Given the description of an element on the screen output the (x, y) to click on. 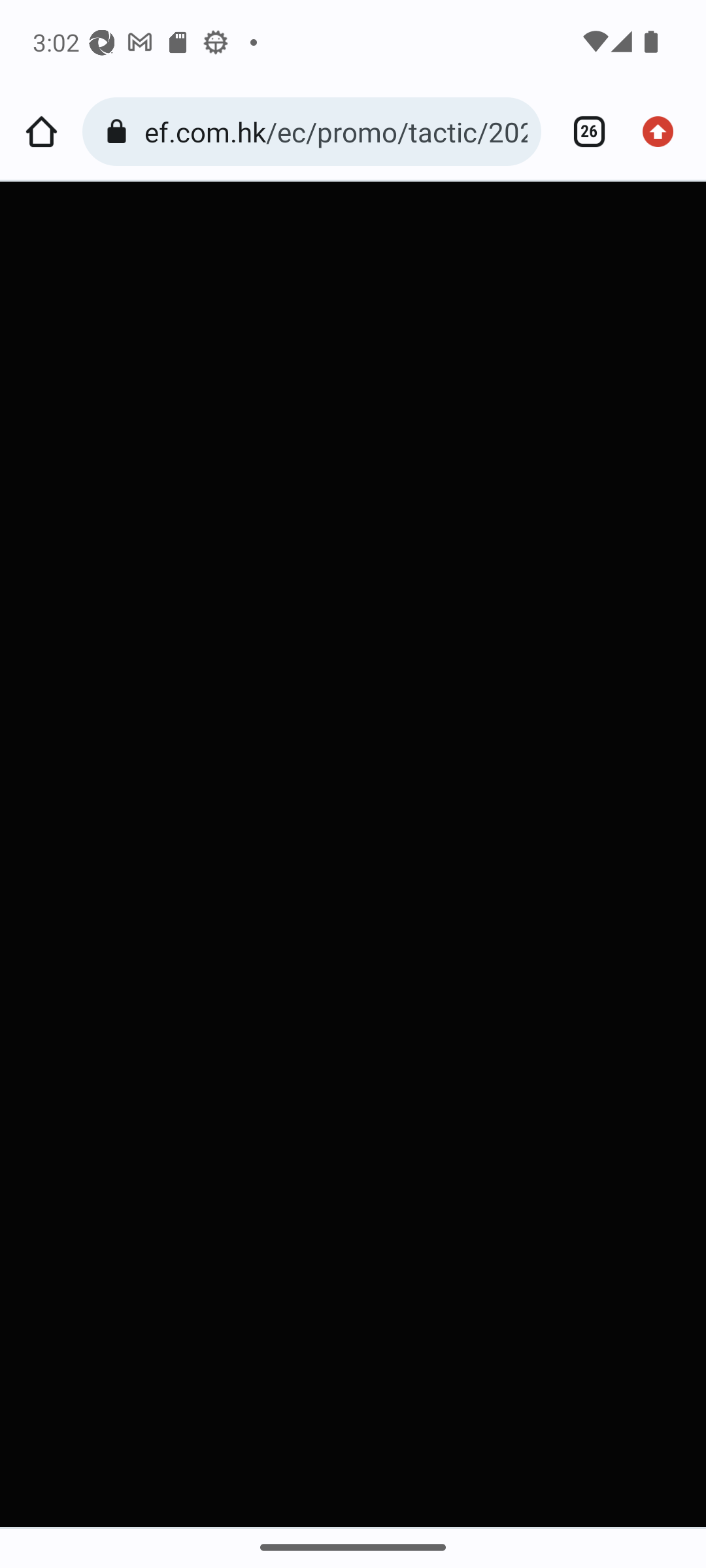
Home (41, 131)
Connection is secure (120, 131)
Switch or close tabs (582, 131)
Update available. More options (664, 131)
